Given the description of an element on the screen output the (x, y) to click on. 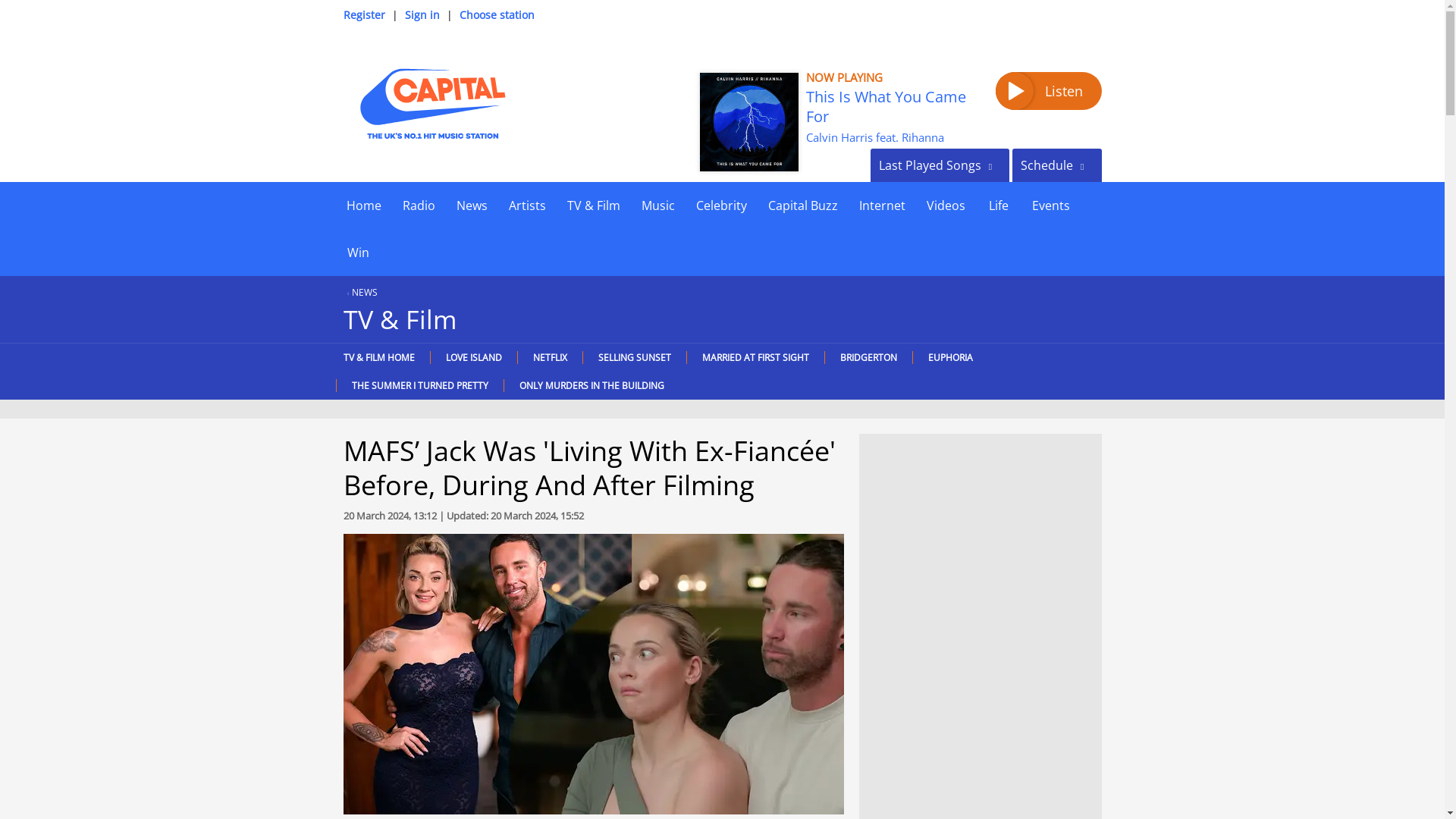
Events (1050, 205)
Life (997, 205)
EUPHORIA (949, 357)
Videos (945, 205)
Radio (418, 205)
Schedule (1055, 164)
MARRIED AT FIRST SIGHT (754, 357)
Capital Buzz (802, 205)
Celebrity (721, 205)
Choose station (497, 14)
THE SUMMER I TURNED PRETTY (418, 385)
Listen (1047, 90)
Home (362, 205)
Capital (431, 103)
Internet (881, 205)
